Given the description of an element on the screen output the (x, y) to click on. 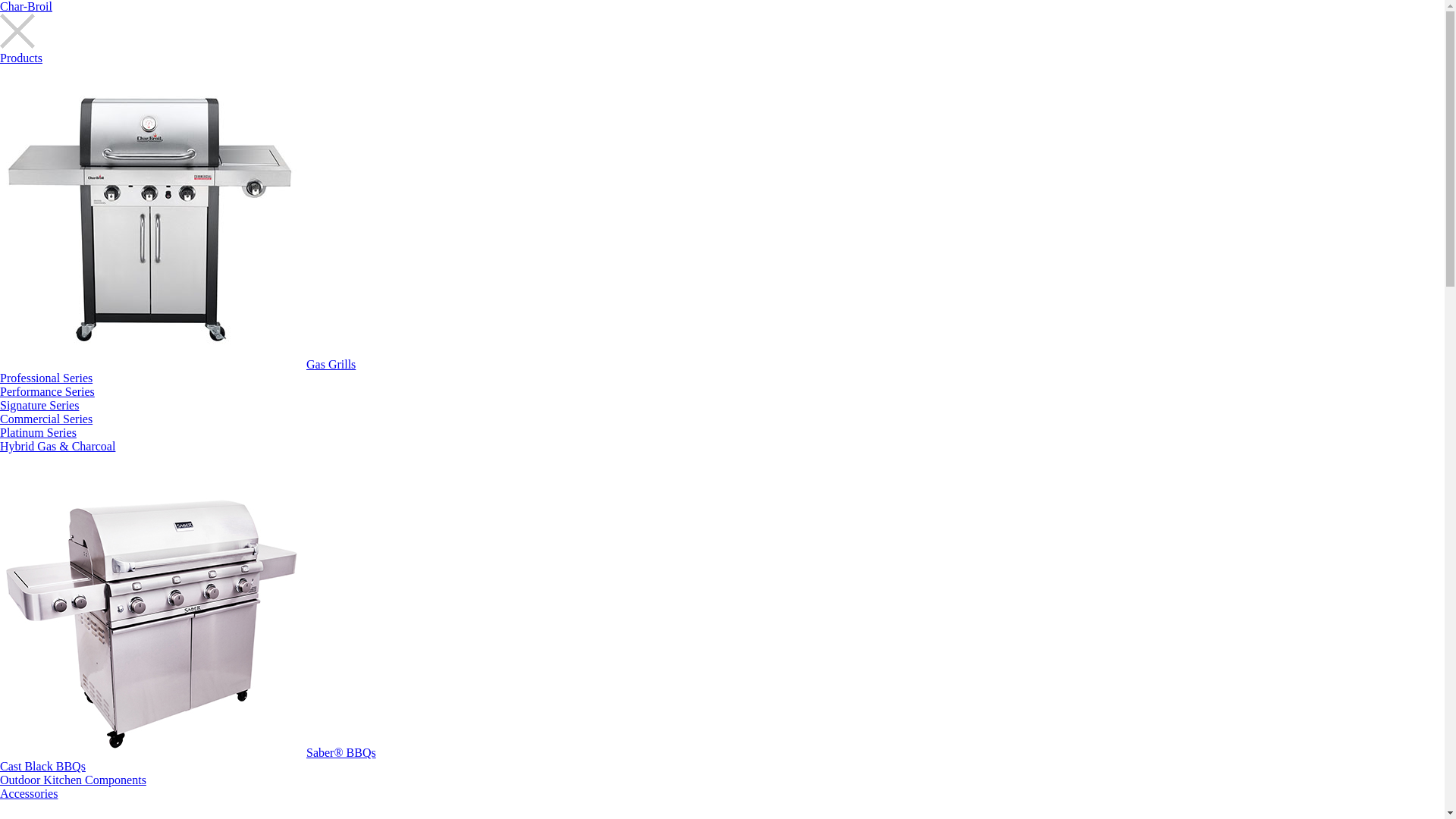
Accessories (29, 793)
Cast Black BBQs (42, 766)
Performance Series (47, 391)
Gas Grills (330, 364)
Char-Broil (26, 6)
Platinum Series (38, 431)
Products (21, 57)
Outdoor Kitchen Components (73, 779)
Signature Series (39, 404)
Professional Series (46, 377)
